Given the description of an element on the screen output the (x, y) to click on. 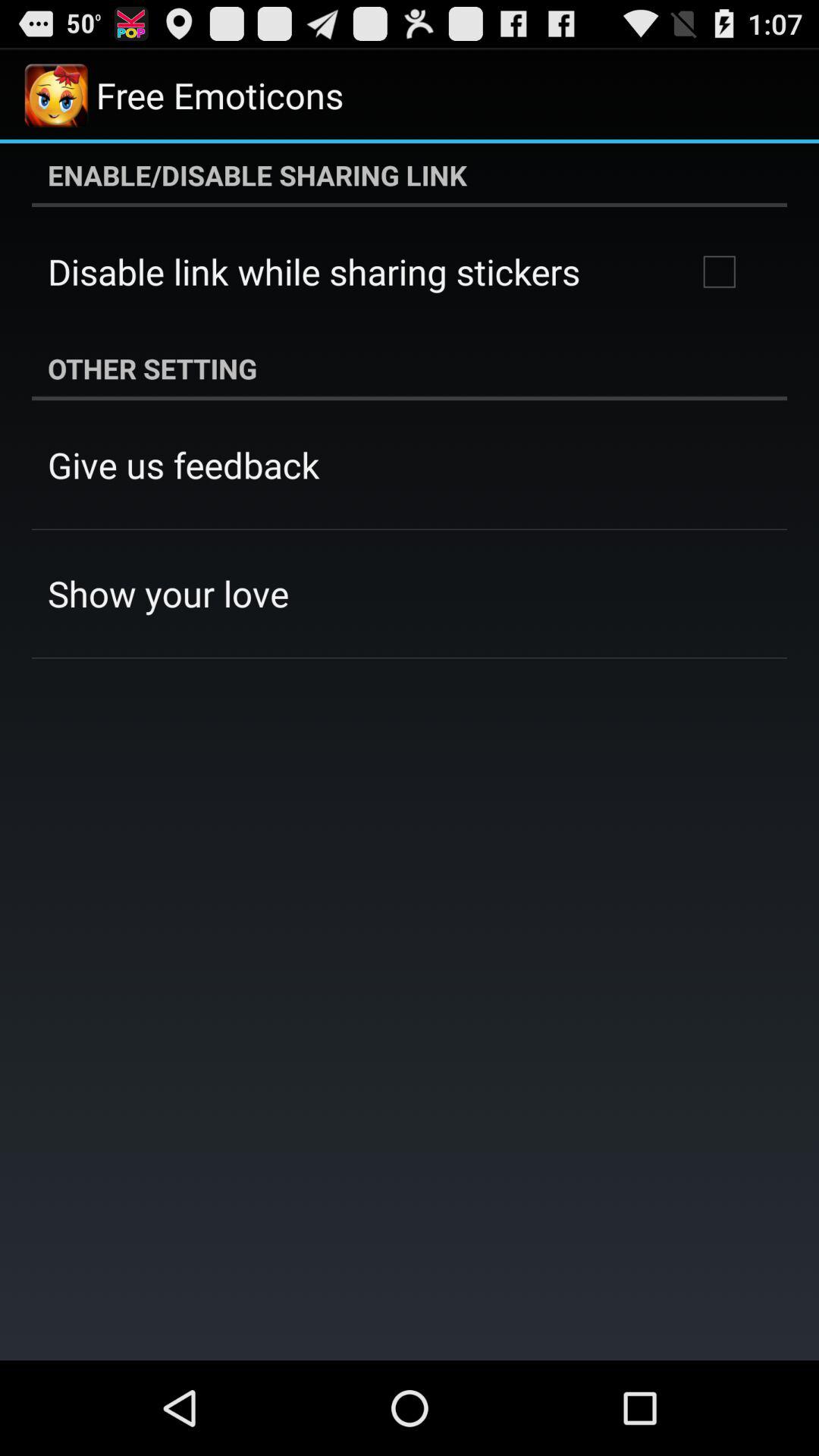
launch the app below give us feedback app (167, 593)
